Given the description of an element on the screen output the (x, y) to click on. 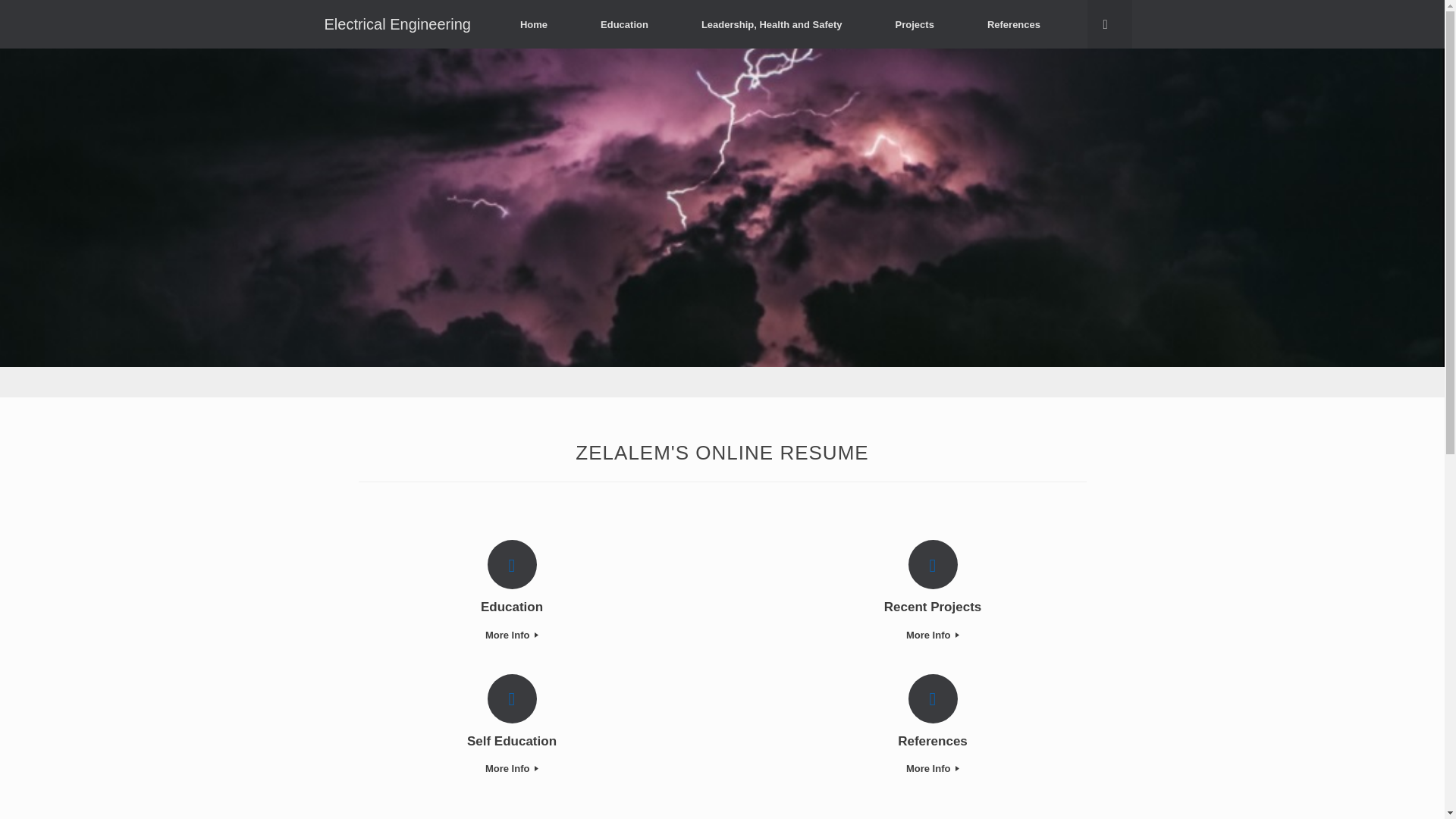
References (931, 741)
References (1013, 24)
Projects (914, 24)
Recent Projects (931, 607)
Leadership, Health and Safety (772, 24)
More Info (512, 635)
More Info (512, 769)
Self Education (512, 741)
Electrical Engineering (397, 24)
Home (533, 24)
Education (624, 24)
More Info (931, 769)
Education (512, 607)
Electrical Engineering (397, 24)
More Info (931, 635)
